Given the description of an element on the screen output the (x, y) to click on. 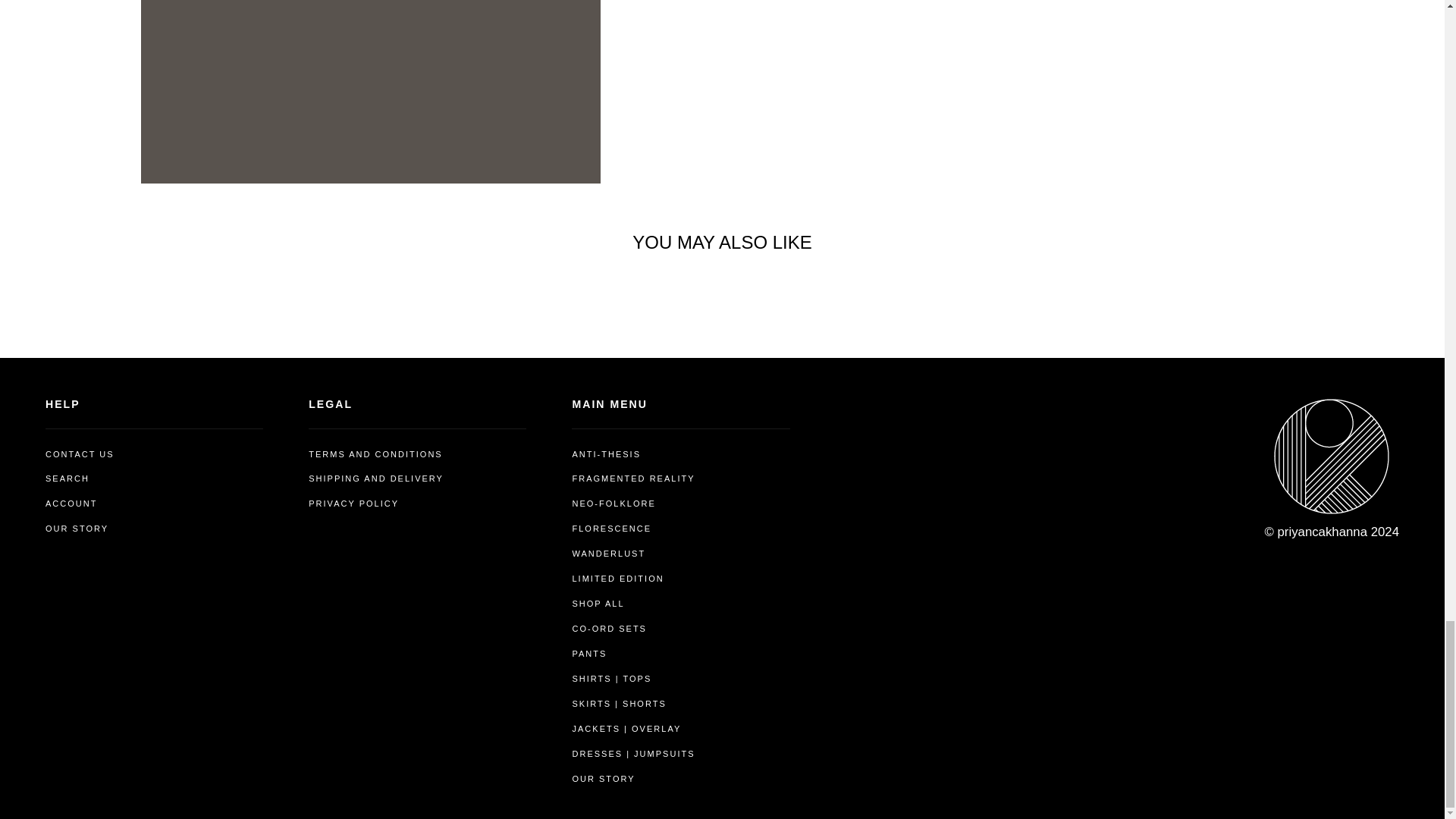
CONTACT US (80, 454)
PRIVACY POLICY (353, 503)
SEARCH (66, 478)
ACCOUNT (71, 503)
FRAGMENTED REALITY (633, 478)
FLORESCENCE (611, 528)
NEO-FOLKLORE (613, 503)
TERMS AND CONDITIONS (375, 454)
SHIPPING AND DELIVERY (376, 478)
WANDERLUST (608, 553)
